Given the description of an element on the screen output the (x, y) to click on. 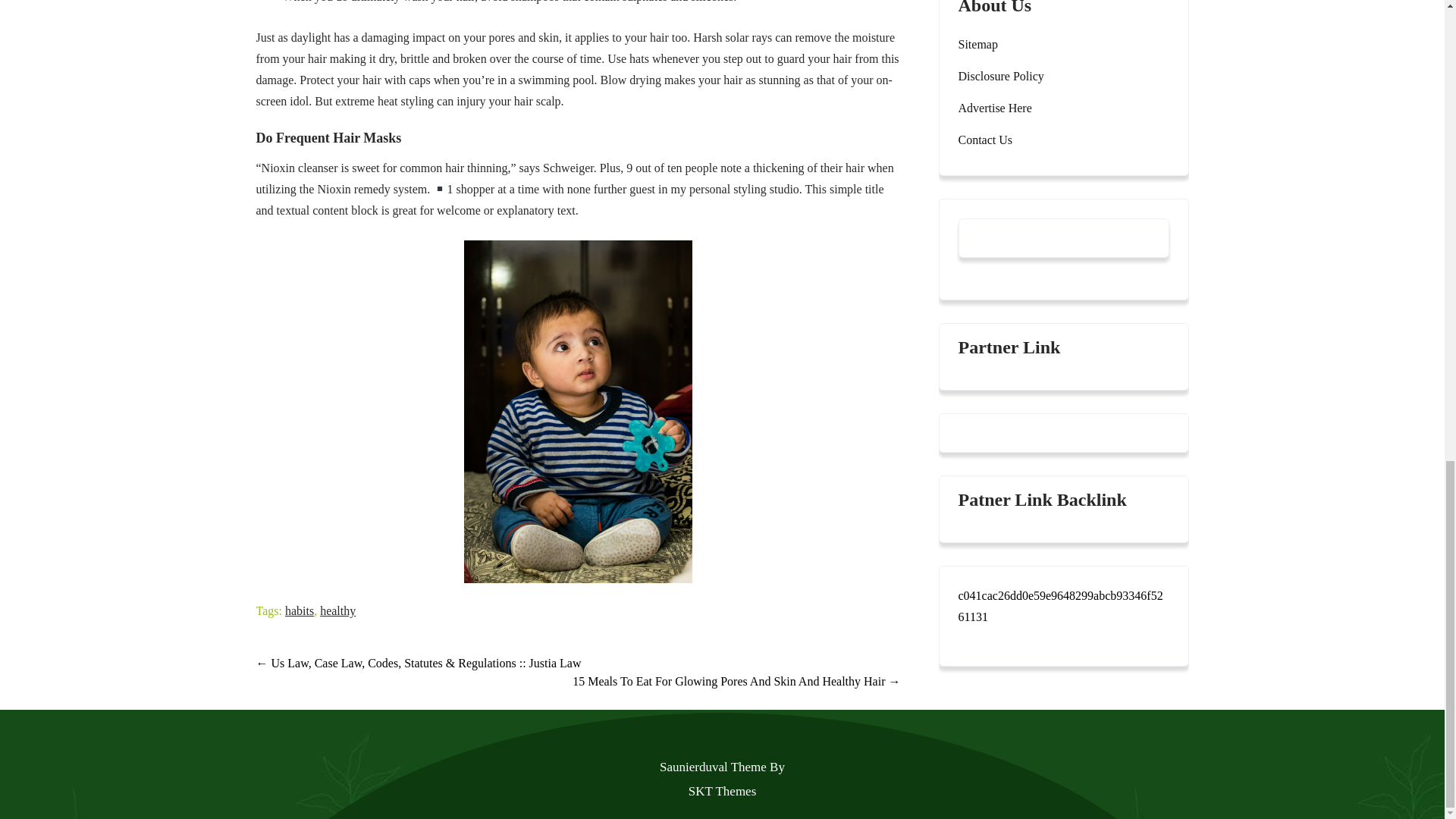
habits (299, 610)
healthy (337, 610)
